Given the description of an element on the screen output the (x, y) to click on. 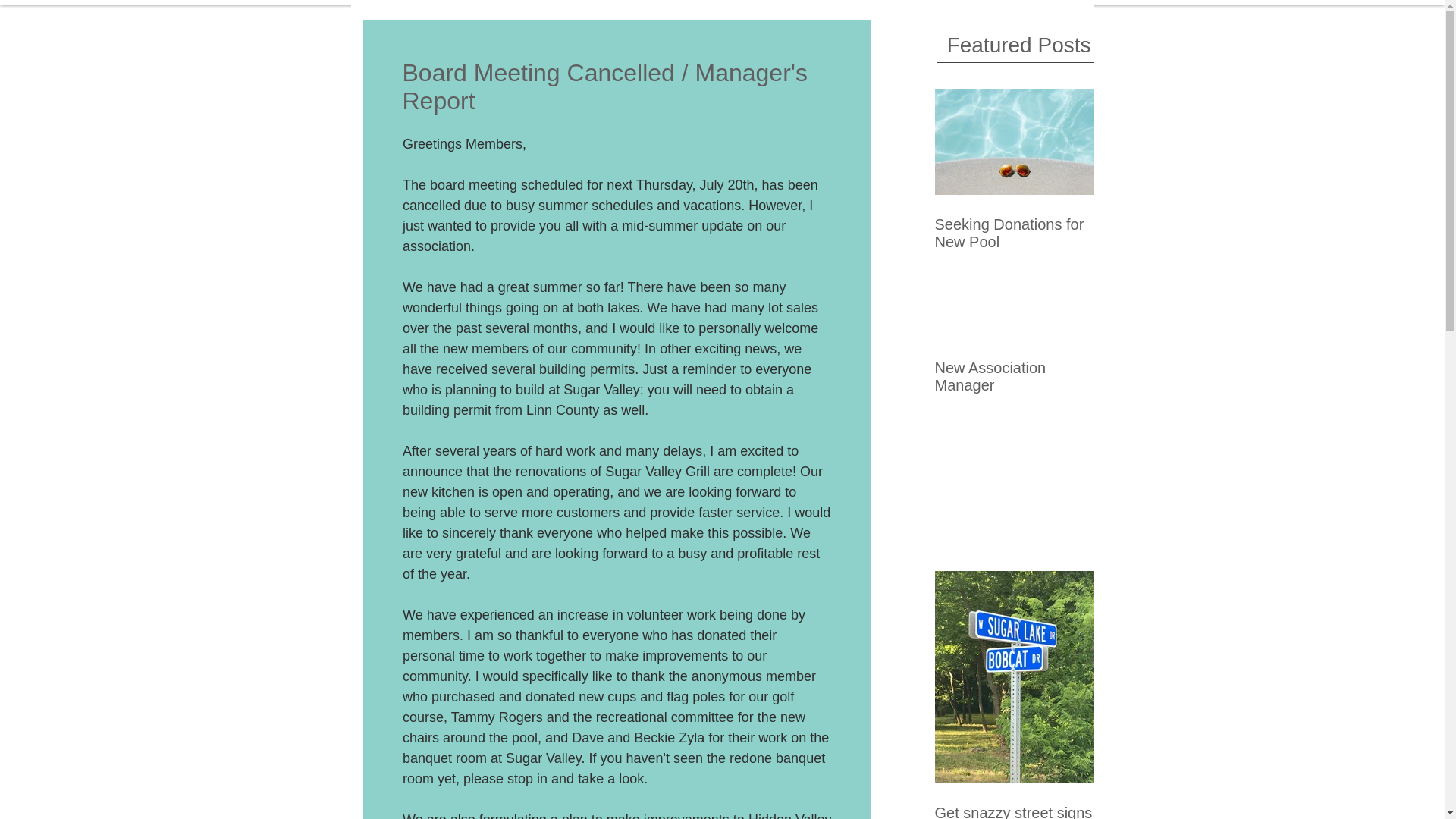
Get snazzy street signs for your intersection! (1013, 811)
Seeking Donations for New Pool (1013, 233)
New Association Manager (1013, 376)
